Given the description of an element on the screen output the (x, y) to click on. 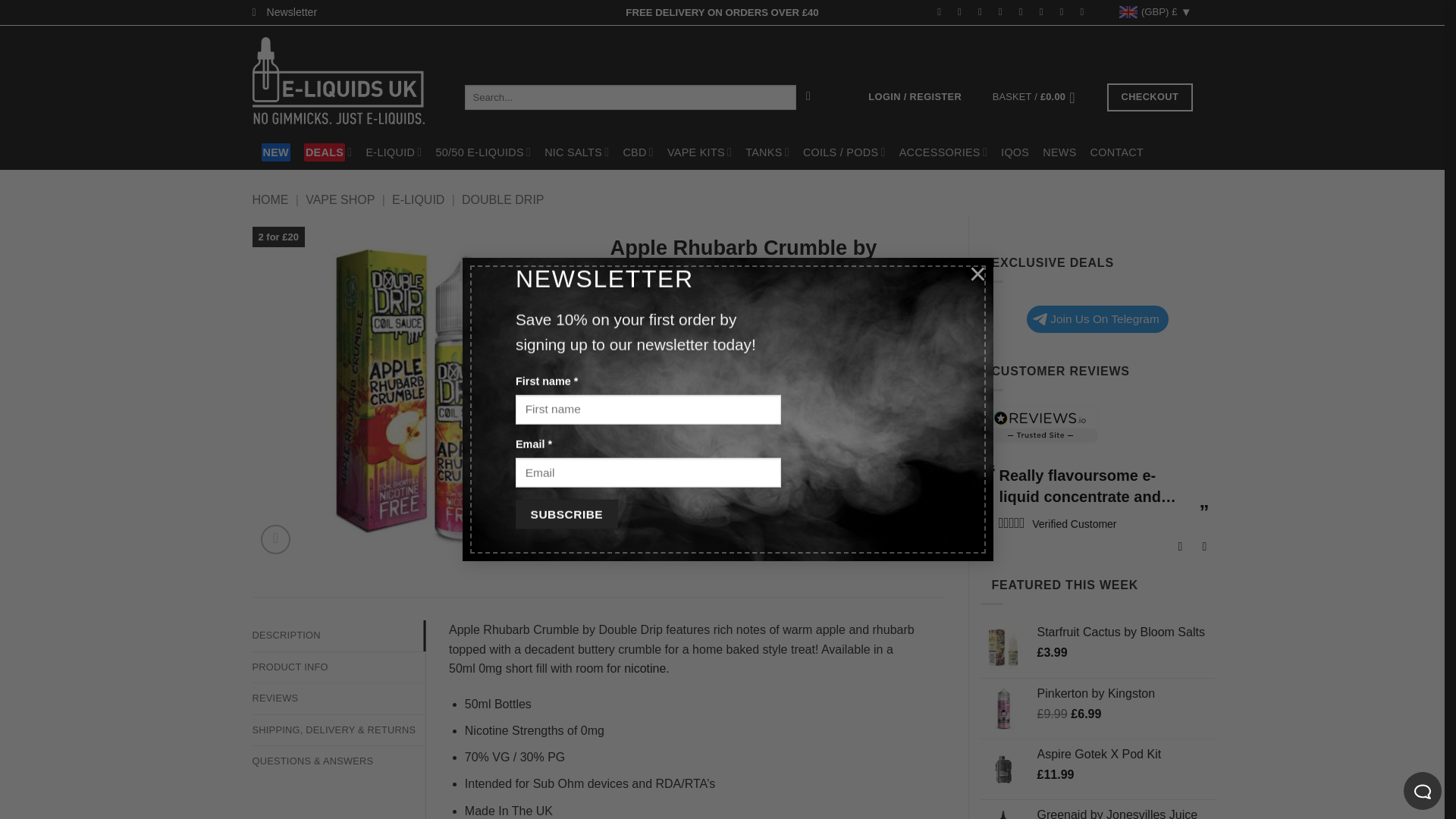
E-Liquids UK - The UK's Leading Online Vape Shop (346, 80)
Search (808, 97)
Follow on Threads (1003, 11)
Newsletter (284, 12)
Follow on X (983, 11)
Newsletter (284, 12)
Follow on Pinterest (1024, 11)
5 Stars (1011, 522)
Follow on YouTube (1064, 11)
Follow on Telegram (1084, 11)
Follow on Facebook (942, 11)
Subscribe (566, 514)
5 Stars (1241, 522)
E-LIQUID (393, 152)
Basket (1038, 96)
